Given the description of an element on the screen output the (x, y) to click on. 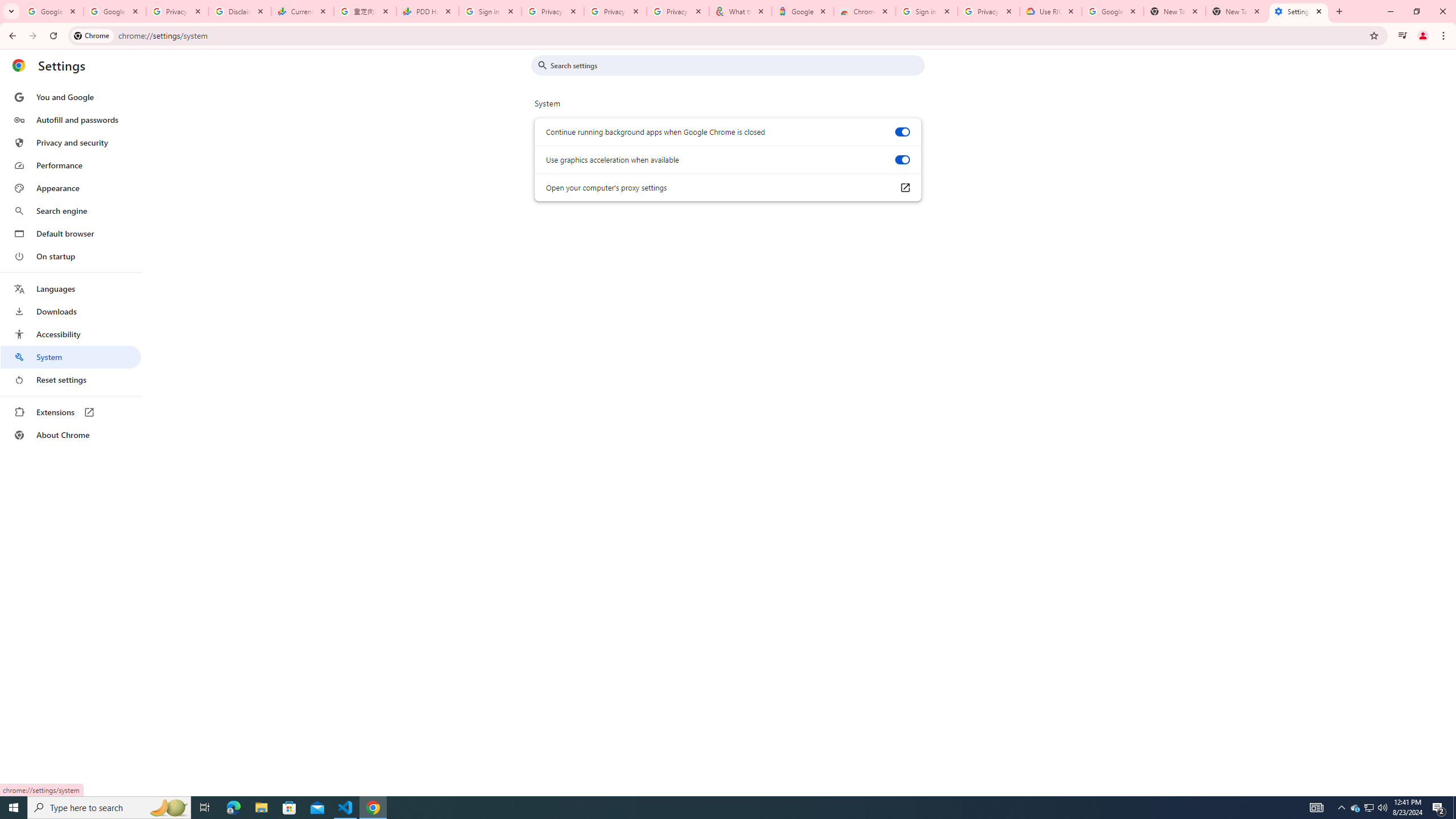
Currencies - Google Finance (302, 11)
Autofill and passwords (70, 119)
You and Google (70, 96)
Sign in - Google Accounts (490, 11)
PDD Holdings Inc - ADR (PDD) Price & News - Google Finance (427, 11)
Default browser (70, 233)
Settings - System (1298, 11)
Privacy Checkup (615, 11)
